Given the description of an element on the screen output the (x, y) to click on. 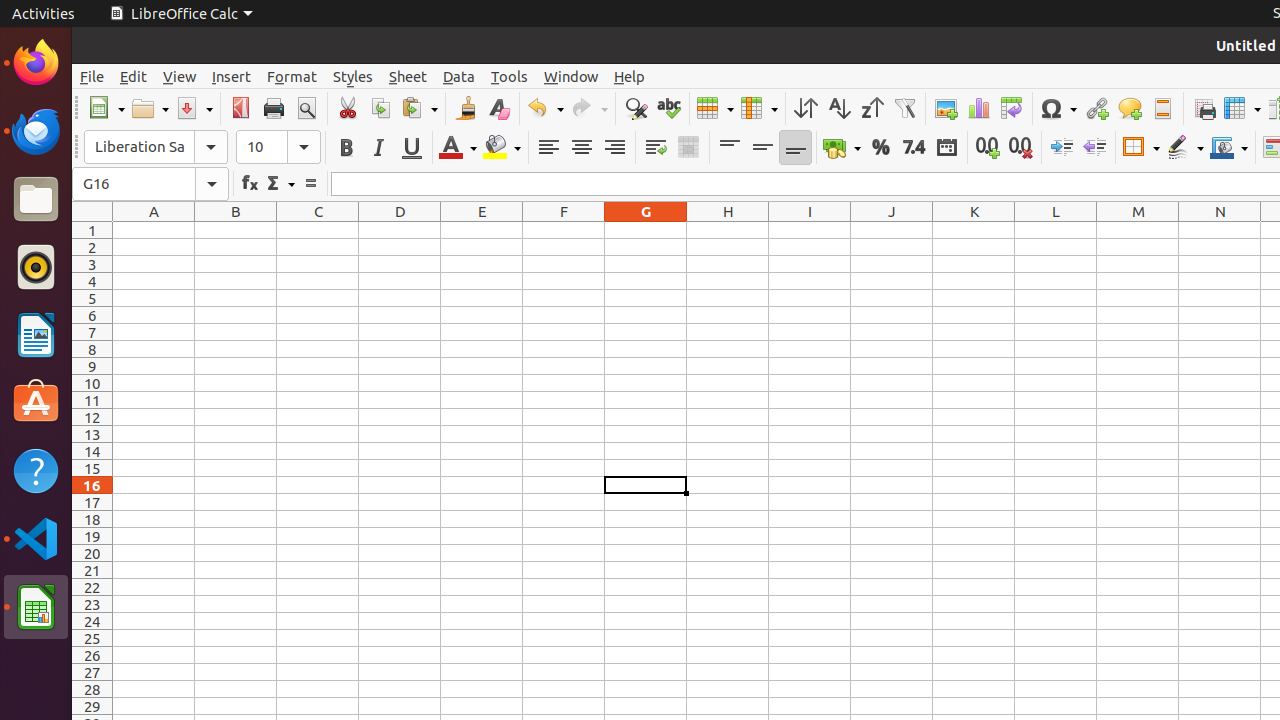
Font Name Element type: combo-box (156, 147)
Row Element type: push-button (715, 108)
Ubuntu Software Element type: push-button (36, 402)
Window Element type: menu (571, 76)
Sort Ascending Element type: push-button (838, 108)
